Given the description of an element on the screen output the (x, y) to click on. 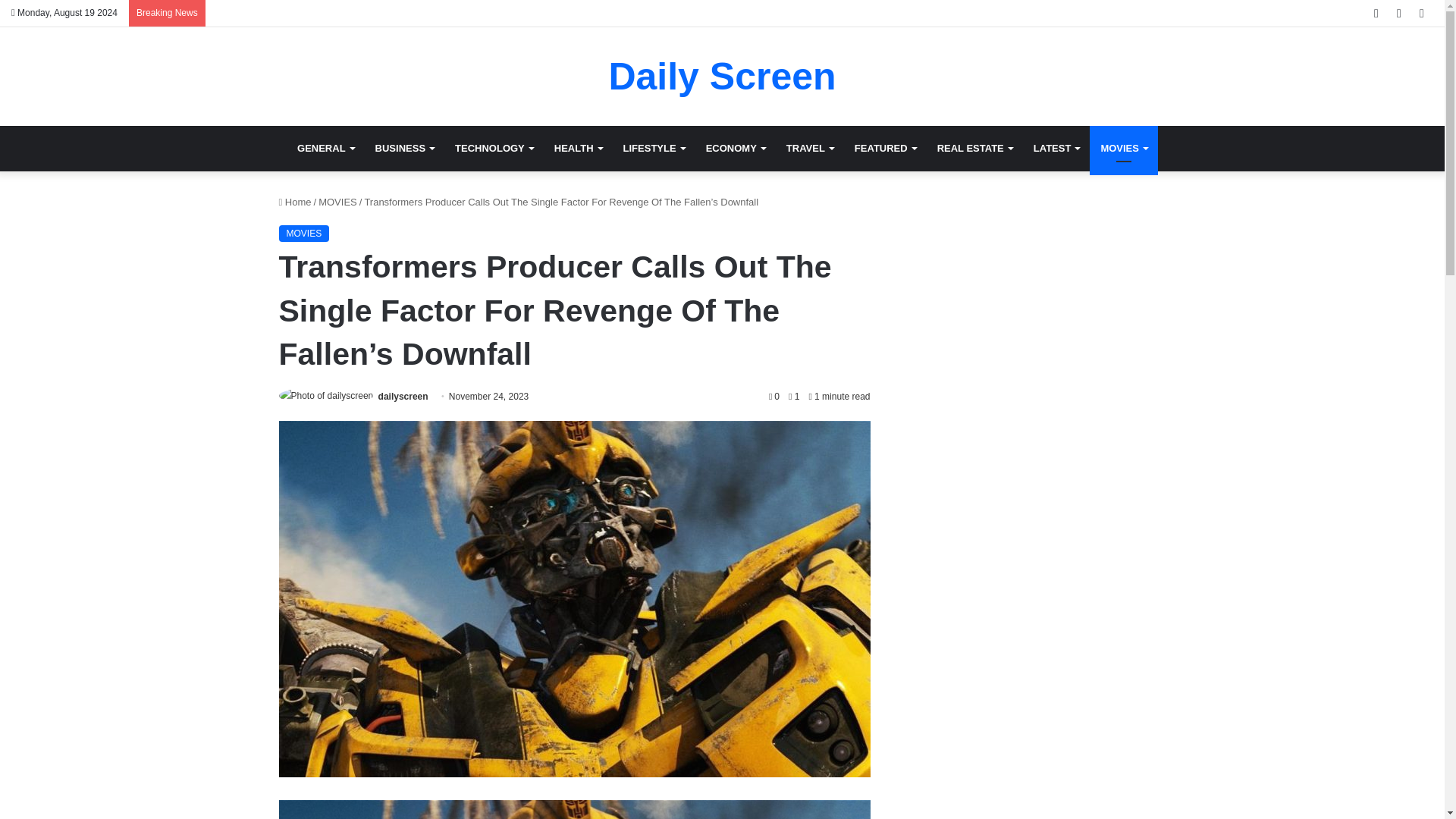
GENERAL (325, 148)
TRAVEL (810, 148)
REAL ESTATE (974, 148)
Daily Screen (721, 76)
FEATURED (885, 148)
ECONOMY (735, 148)
dailyscreen (403, 396)
MOVIES (1123, 148)
TECHNOLOGY (493, 148)
LATEST (1056, 148)
